Given the description of an element on the screen output the (x, y) to click on. 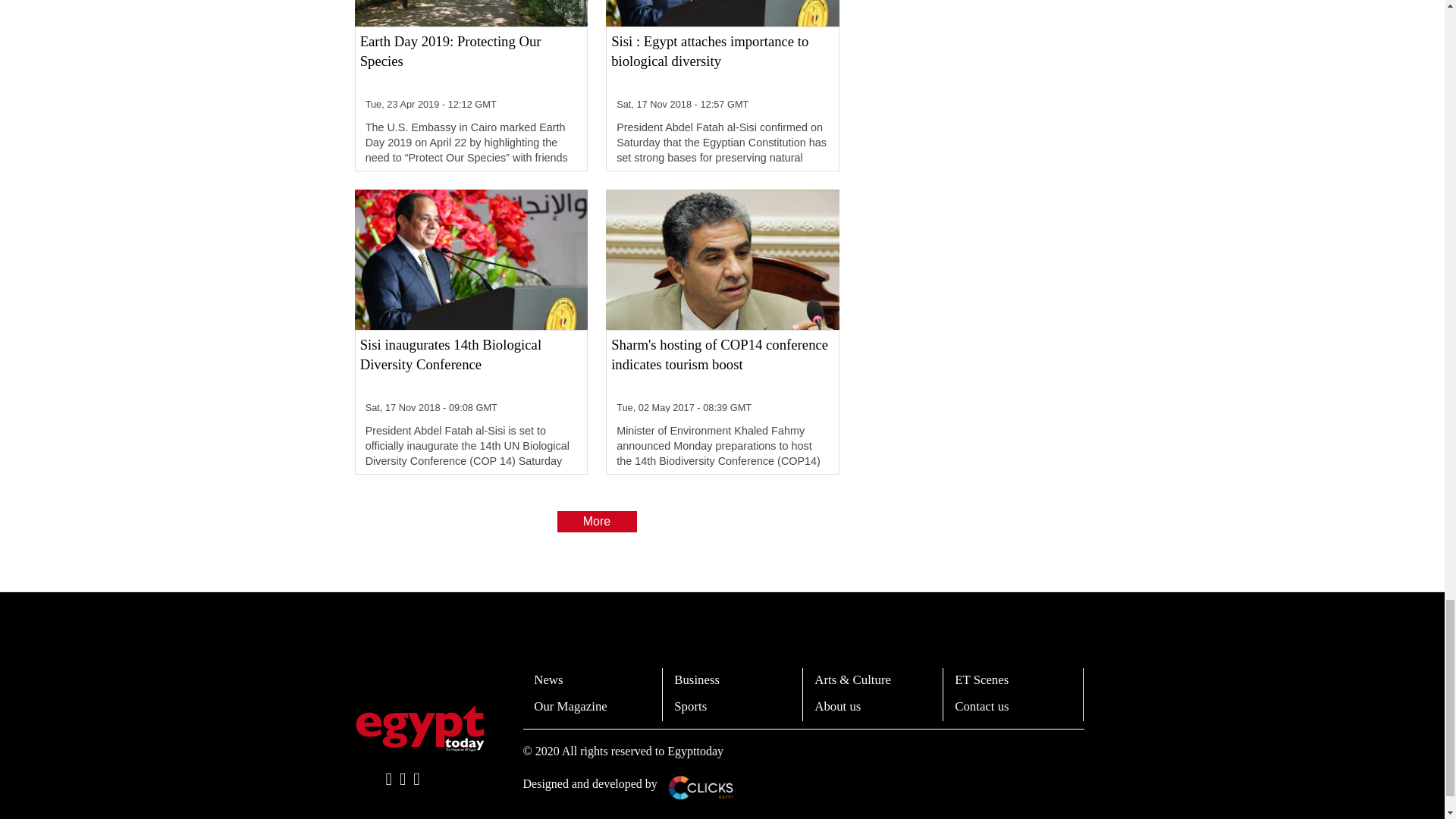
EgyptToday (419, 728)
